Given the description of an element on the screen output the (x, y) to click on. 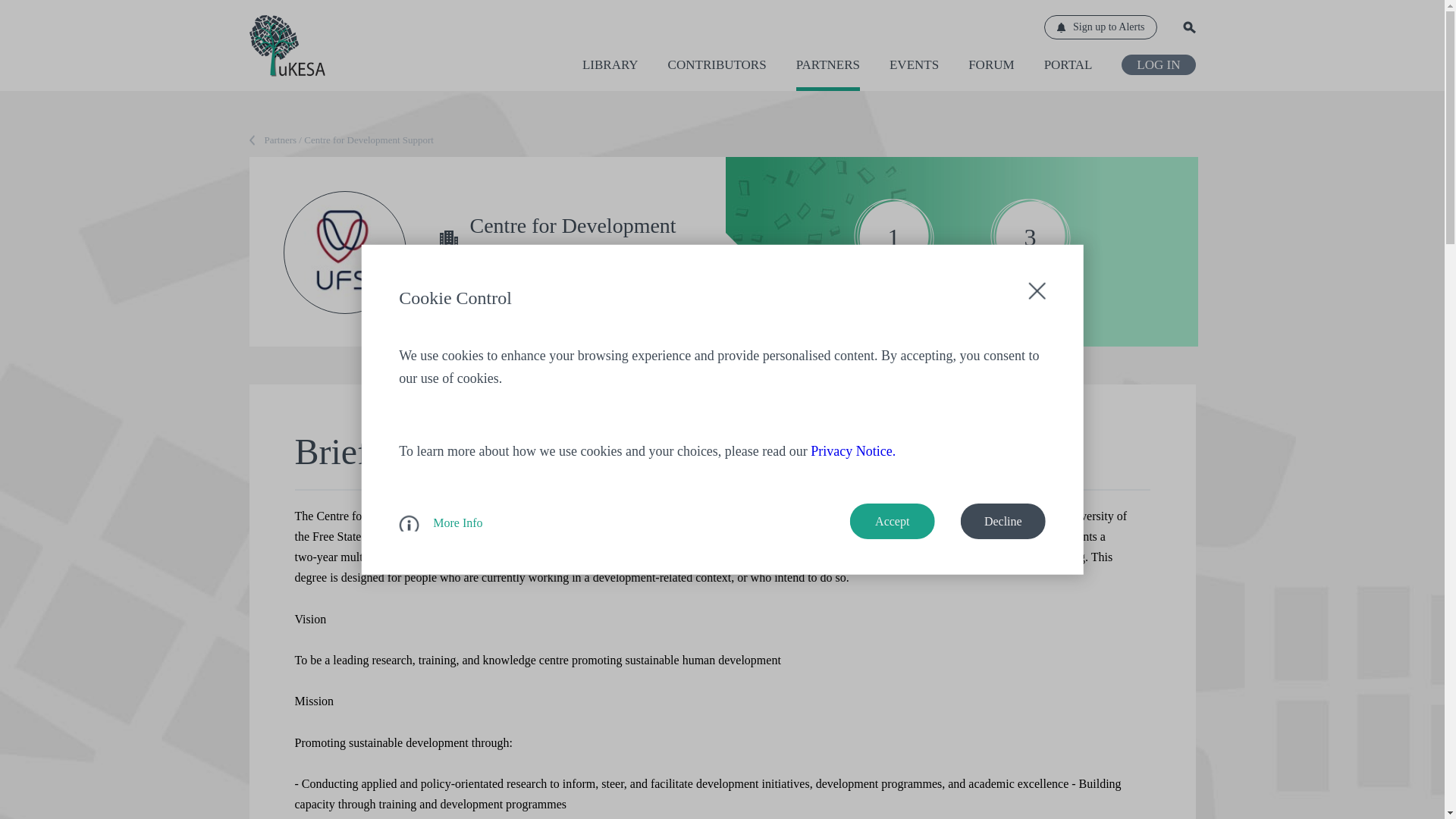
Partners (272, 139)
FORUM (990, 73)
Portal (1068, 73)
Search (1188, 27)
Decline (1002, 520)
Log in (1158, 64)
LIBRARY (610, 73)
EVENTS (914, 73)
LOG IN (1158, 64)
Sign up to alerts (1100, 27)
Forum (990, 73)
Partners (828, 73)
Accept (892, 520)
Contributors (717, 73)
Organization Link (499, 281)
